Given the description of an element on the screen output the (x, y) to click on. 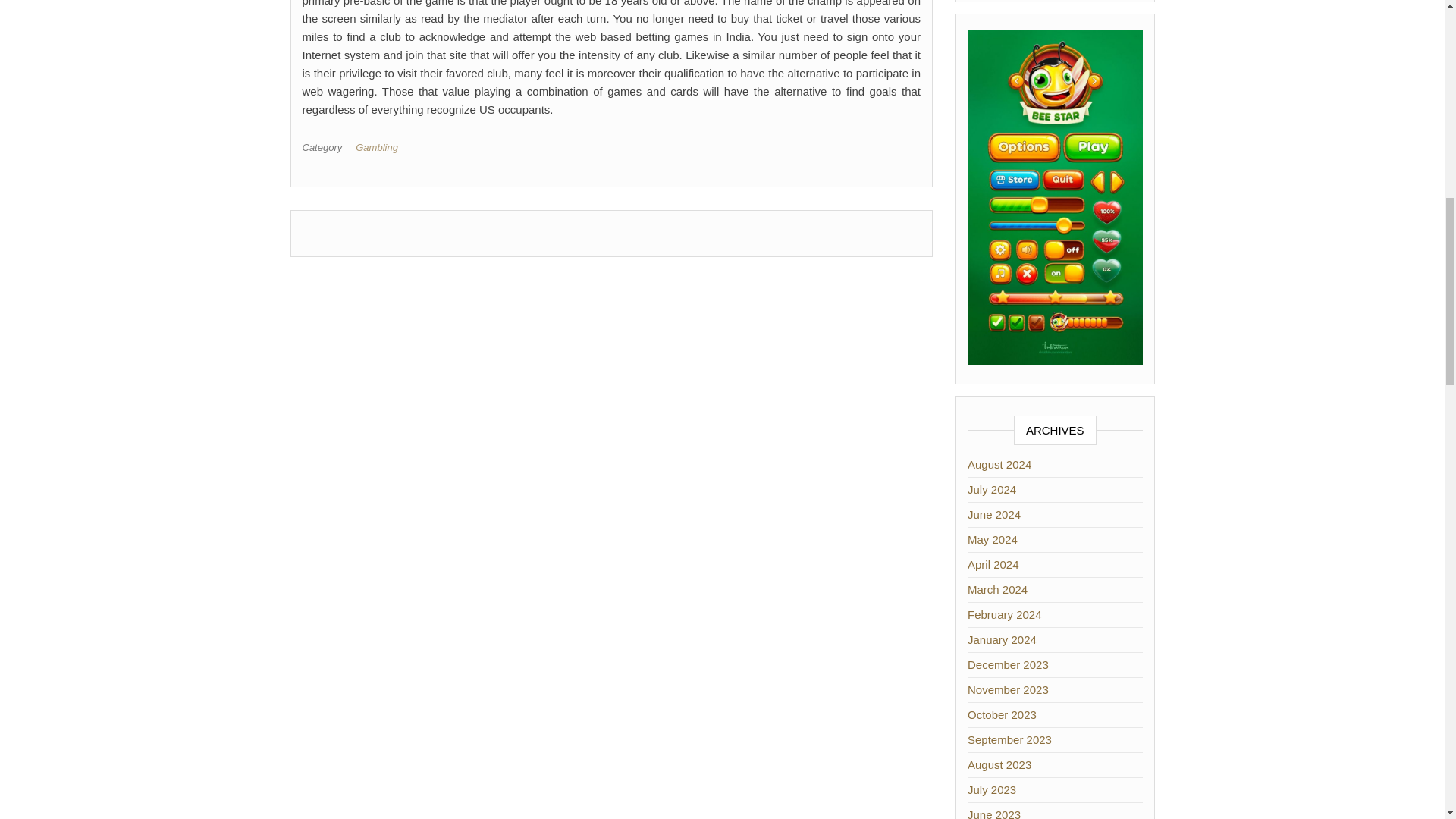
October 2023 (1002, 714)
July 2024 (992, 489)
May 2024 (992, 539)
April 2024 (993, 563)
March 2024 (997, 589)
January 2024 (1002, 639)
November 2023 (1008, 689)
December 2023 (1008, 664)
July 2023 (992, 789)
Gambling (379, 147)
